Given the description of an element on the screen output the (x, y) to click on. 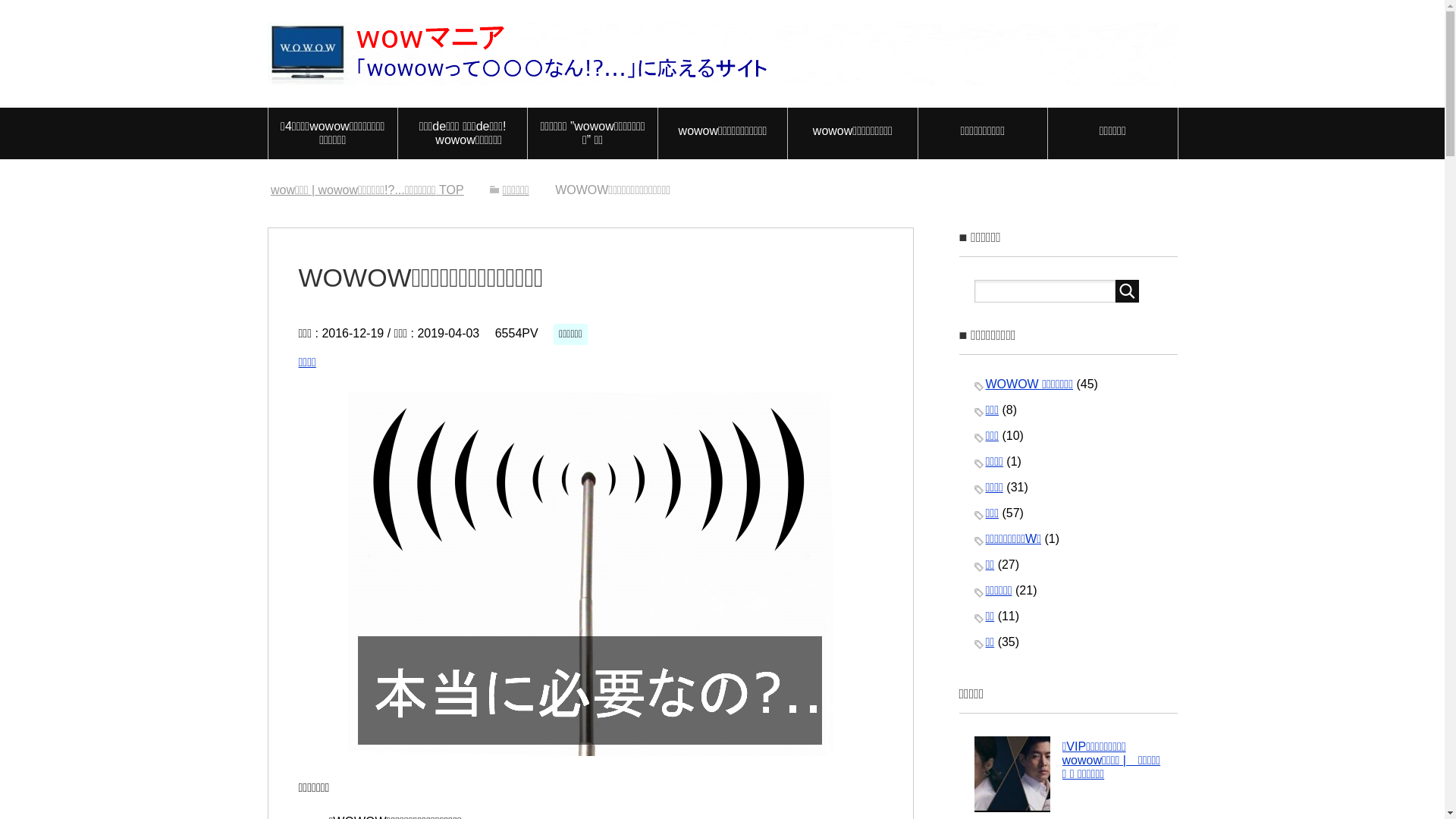
Add this entry to Hatena Bookmark. Element type: hover (349, 363)
